Given the description of an element on the screen output the (x, y) to click on. 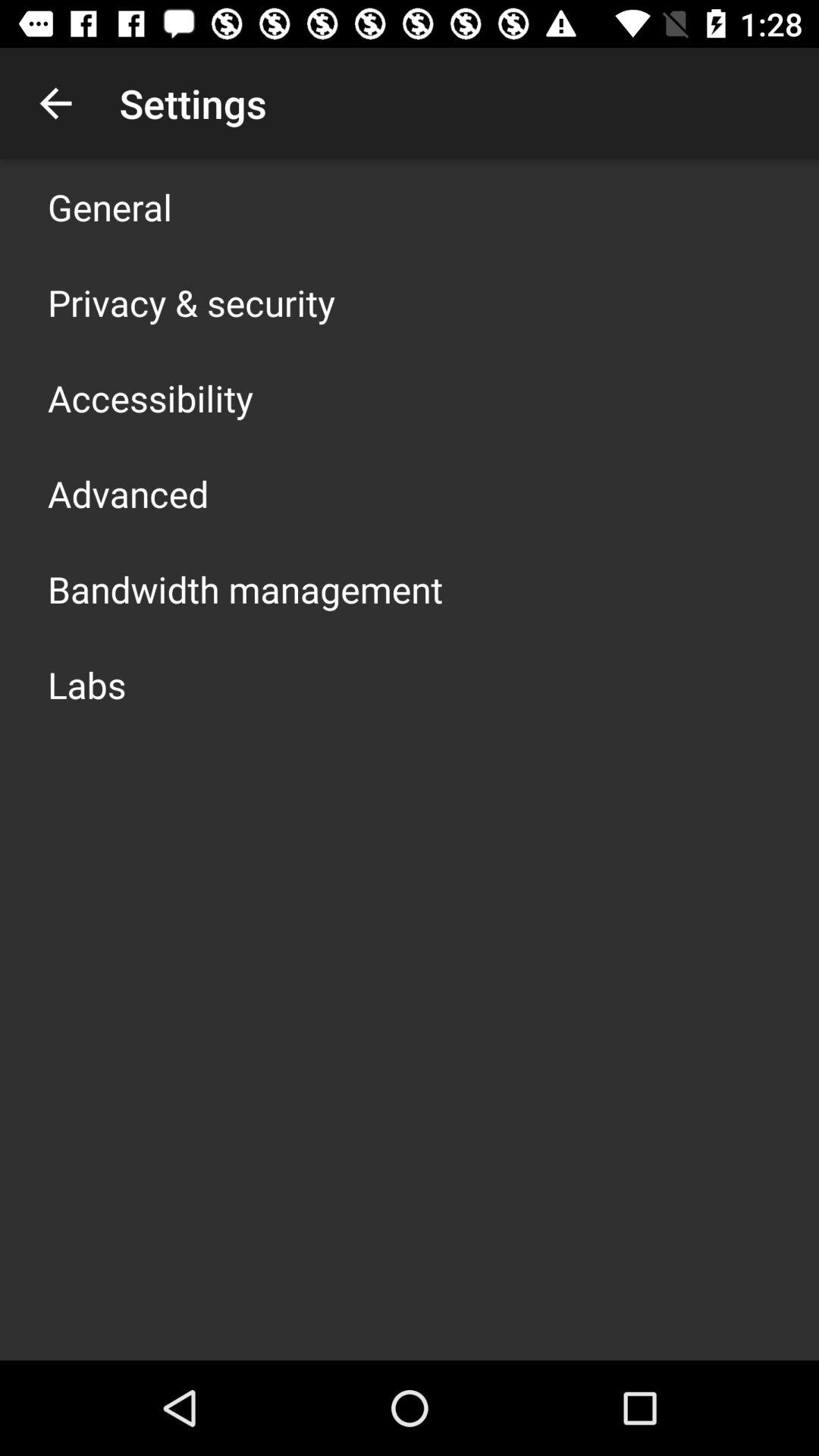
flip to accessibility icon (150, 397)
